Given the description of an element on the screen output the (x, y) to click on. 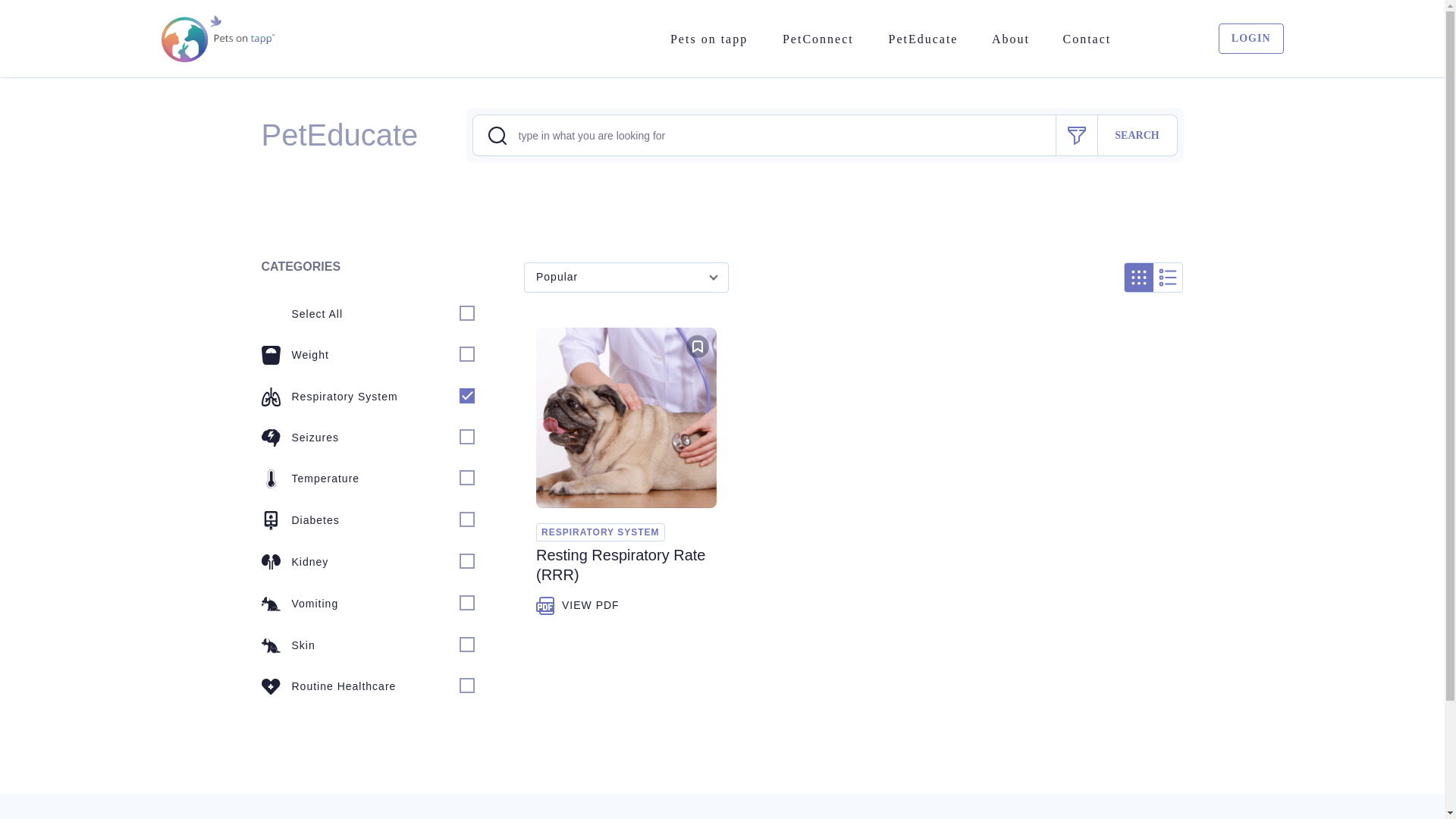
Pets on tapp (708, 38)
VIEW PDF (577, 606)
LOGIN (1244, 38)
SEARCH (1137, 135)
About (1010, 38)
Contact (1085, 38)
PetEducate (922, 38)
PetConnect (817, 38)
